Given the description of an element on the screen output the (x, y) to click on. 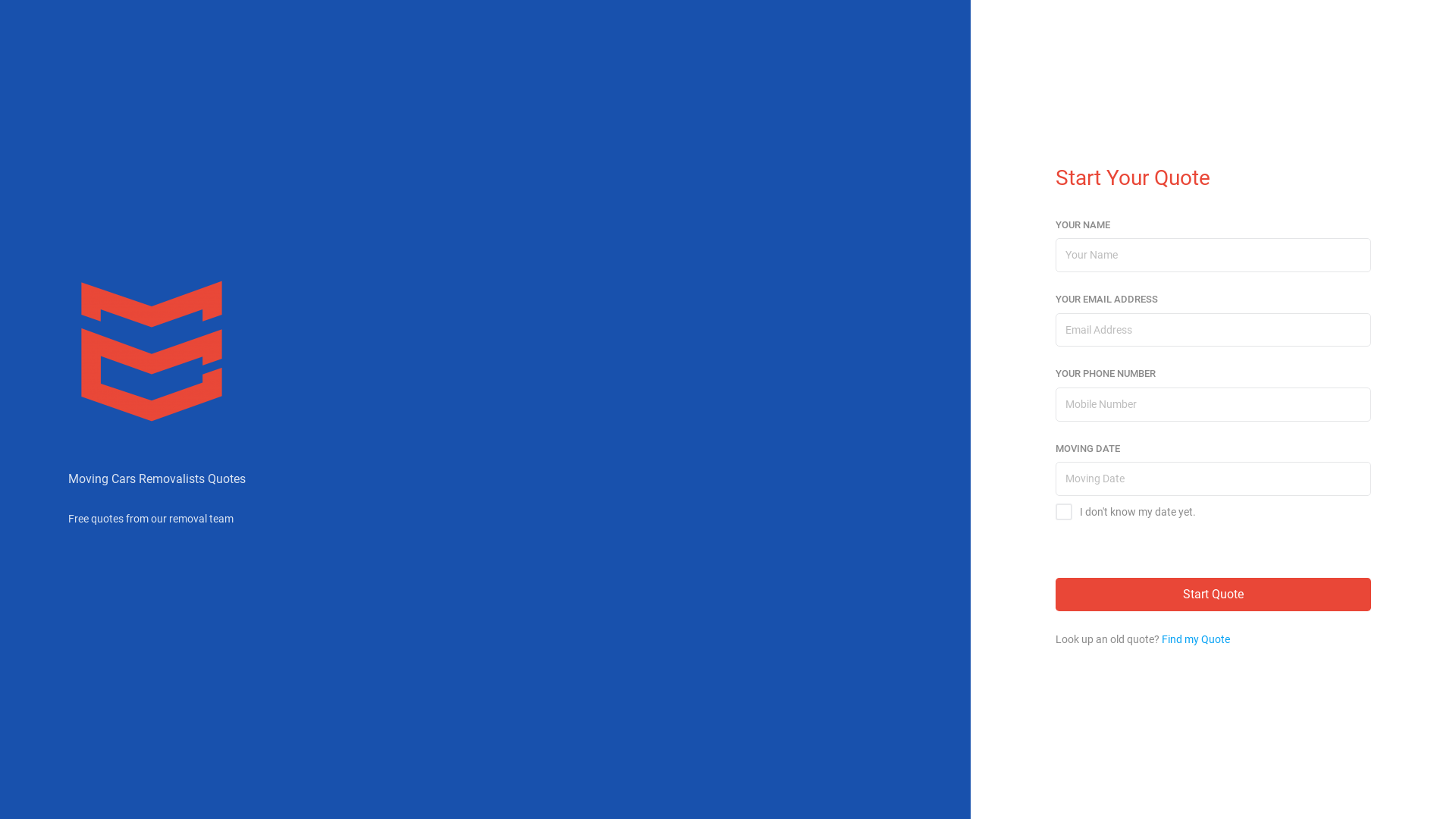
Start Quote Element type: text (1213, 594)
Find my Quote Element type: text (1195, 639)
